Given the description of an element on the screen output the (x, y) to click on. 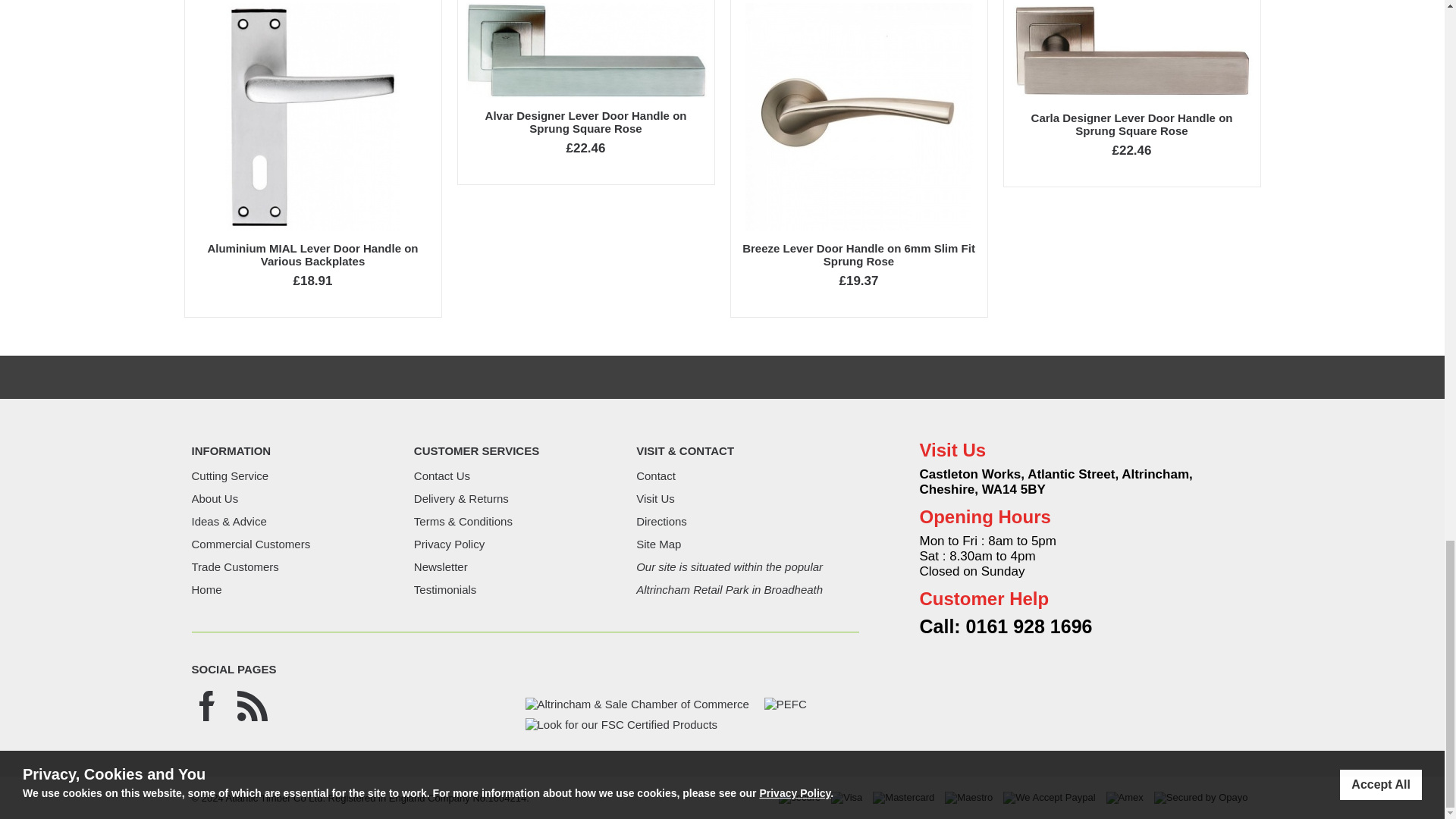
Home (205, 589)
Trade Customers (234, 566)
Alvar Designer Lever Door Handle on Sprung Square Rose (585, 121)
Commercial Customers (250, 543)
Carla Designer Lever Door Handle on Sprung Square Rose (1131, 124)
Privacy Policy (448, 543)
Cutting Service (228, 475)
Newsletter (440, 566)
Aluminium MIAL Lever Door Handle on Various Backplates (311, 254)
Breeze Lever Door Handle on 6mm Slim Fit Sprung Rose (858, 254)
About Us (214, 498)
Contact Us (441, 475)
